Given the description of an element on the screen output the (x, y) to click on. 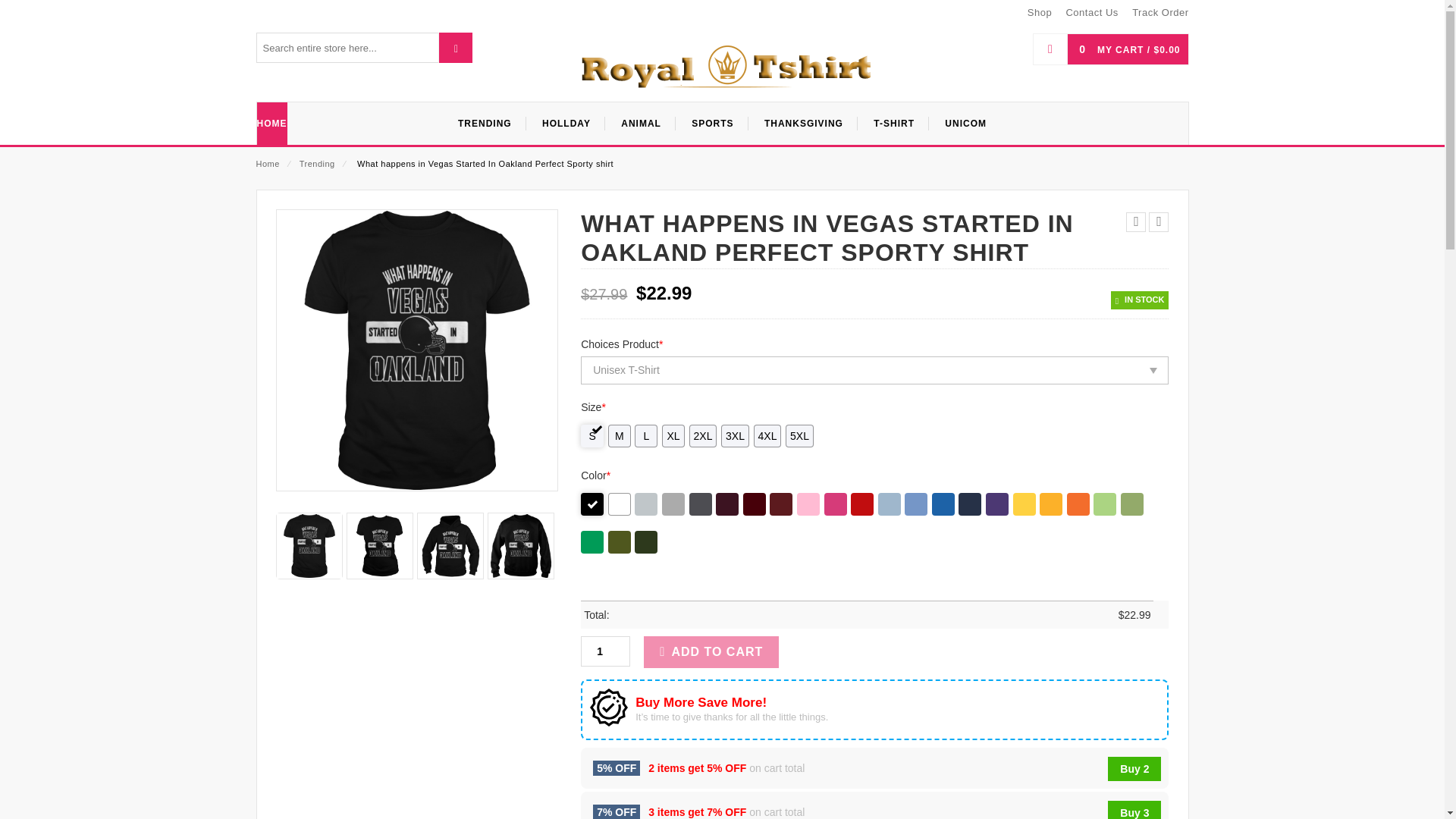
THANKSGIVING (804, 123)
1 (605, 651)
S (592, 436)
T-SHIRT (894, 123)
UNICOM (965, 123)
HOLLDAY (566, 123)
Shop (1039, 14)
ADD TO CART (710, 652)
Contact Us (1091, 14)
Track Order (1160, 14)
Home (267, 163)
ANIMAL (641, 123)
SPORTS (713, 123)
Trend T Shirt Store Online (721, 69)
TRENDING (484, 123)
